Given the description of an element on the screen output the (x, y) to click on. 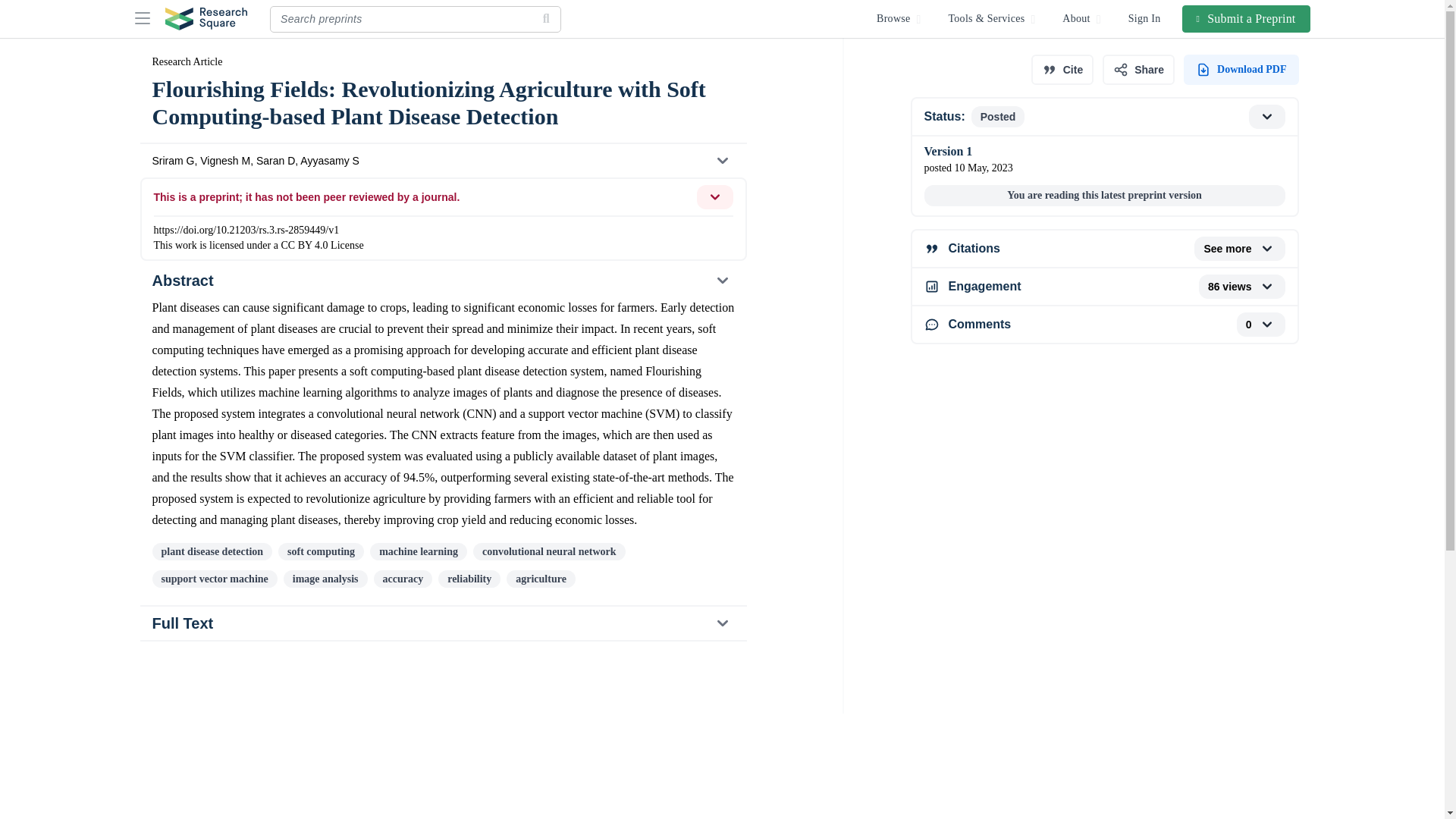
Share (1138, 69)
PDF (1103, 286)
Full Text (1240, 69)
Abstract (442, 622)
Sign In (442, 280)
Cite (1103, 248)
Sriram G, Vignesh M, Saran D, Ayyasamy S (1103, 324)
